Given the description of an element on the screen output the (x, y) to click on. 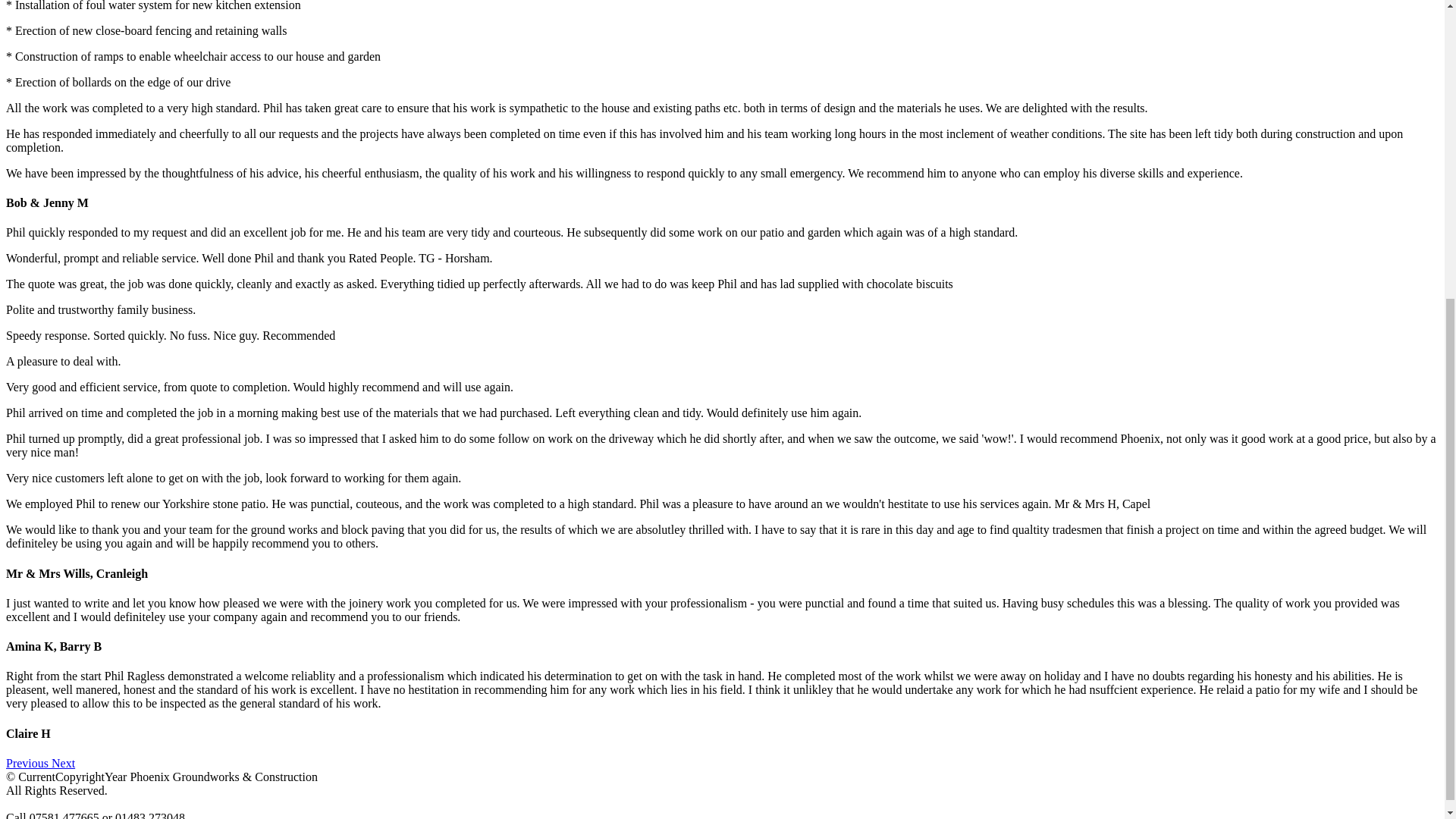
Previous (27, 762)
Next (62, 762)
